Given the description of an element on the screen output the (x, y) to click on. 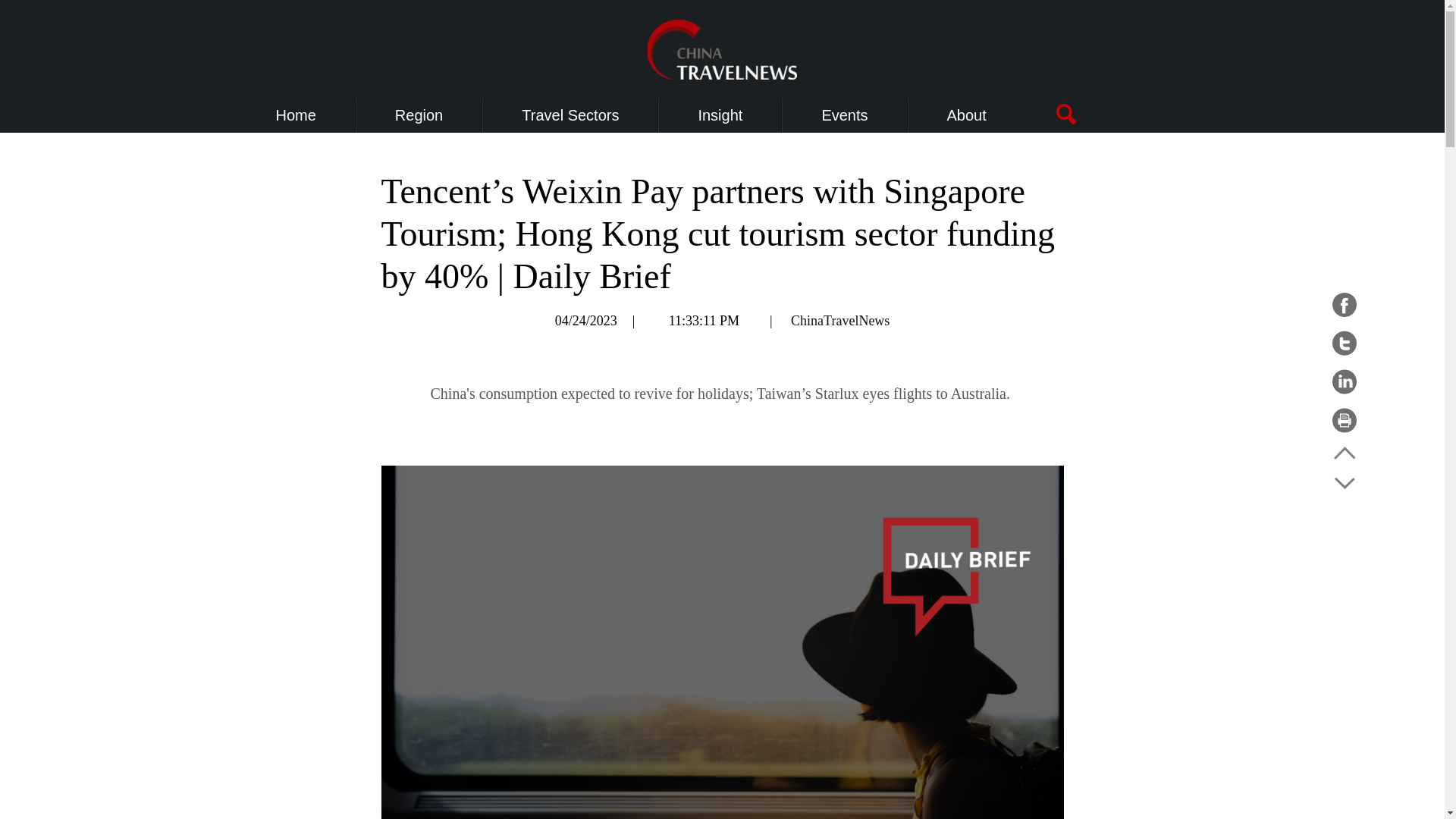
ChinaTravelNews (839, 320)
Home (295, 115)
Events (844, 115)
About (967, 115)
